Given the description of an element on the screen output the (x, y) to click on. 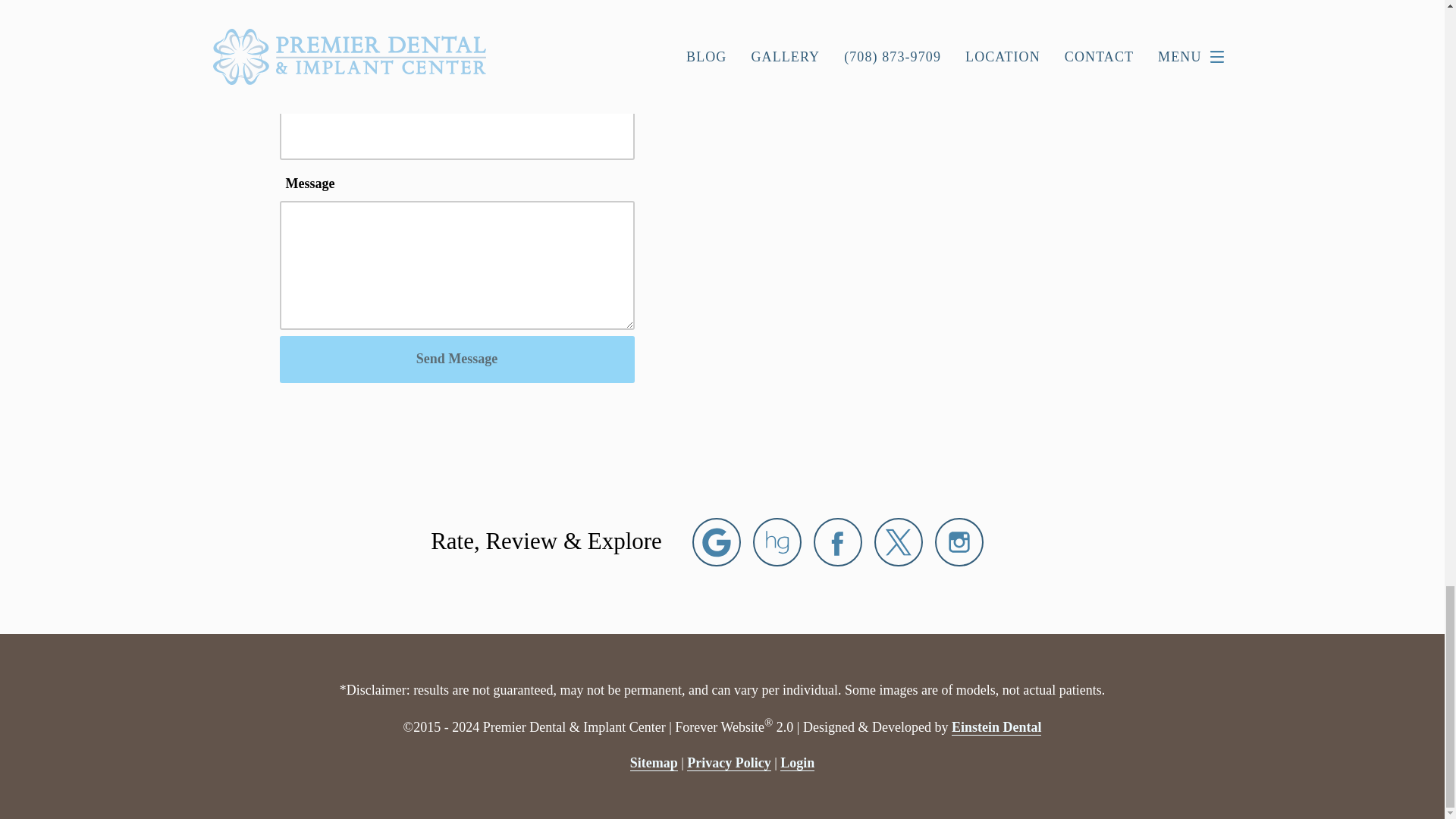
Privacy Policy (728, 763)
Google (717, 541)
Instagram (959, 541)
Twitter (899, 541)
Facebook (837, 541)
Healthgrades (777, 541)
Sitemap (654, 763)
Login (796, 763)
Send Message (456, 359)
Einstein Dental (997, 727)
